Given the description of an element on the screen output the (x, y) to click on. 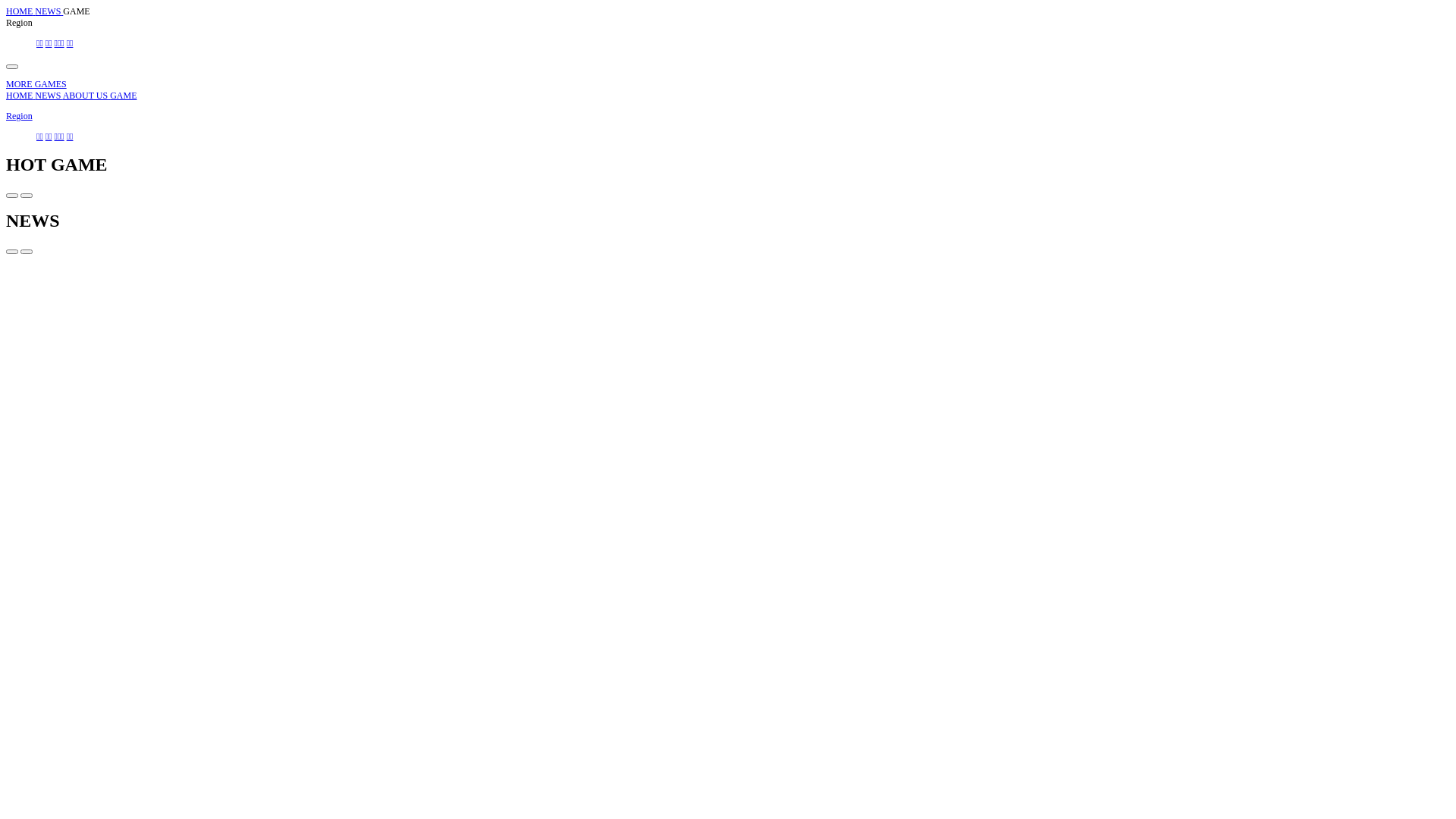
ABOUT US Element type: text (85, 95)
MORE GAMES Element type: text (36, 83)
Region Element type: text (19, 115)
NEWS Element type: text (48, 11)
HOME Element type: text (20, 95)
HOME Element type: text (20, 11)
GAME Element type: text (122, 95)
NEWS Element type: text (48, 95)
GAME Element type: text (75, 11)
